Given the description of an element on the screen output the (x, y) to click on. 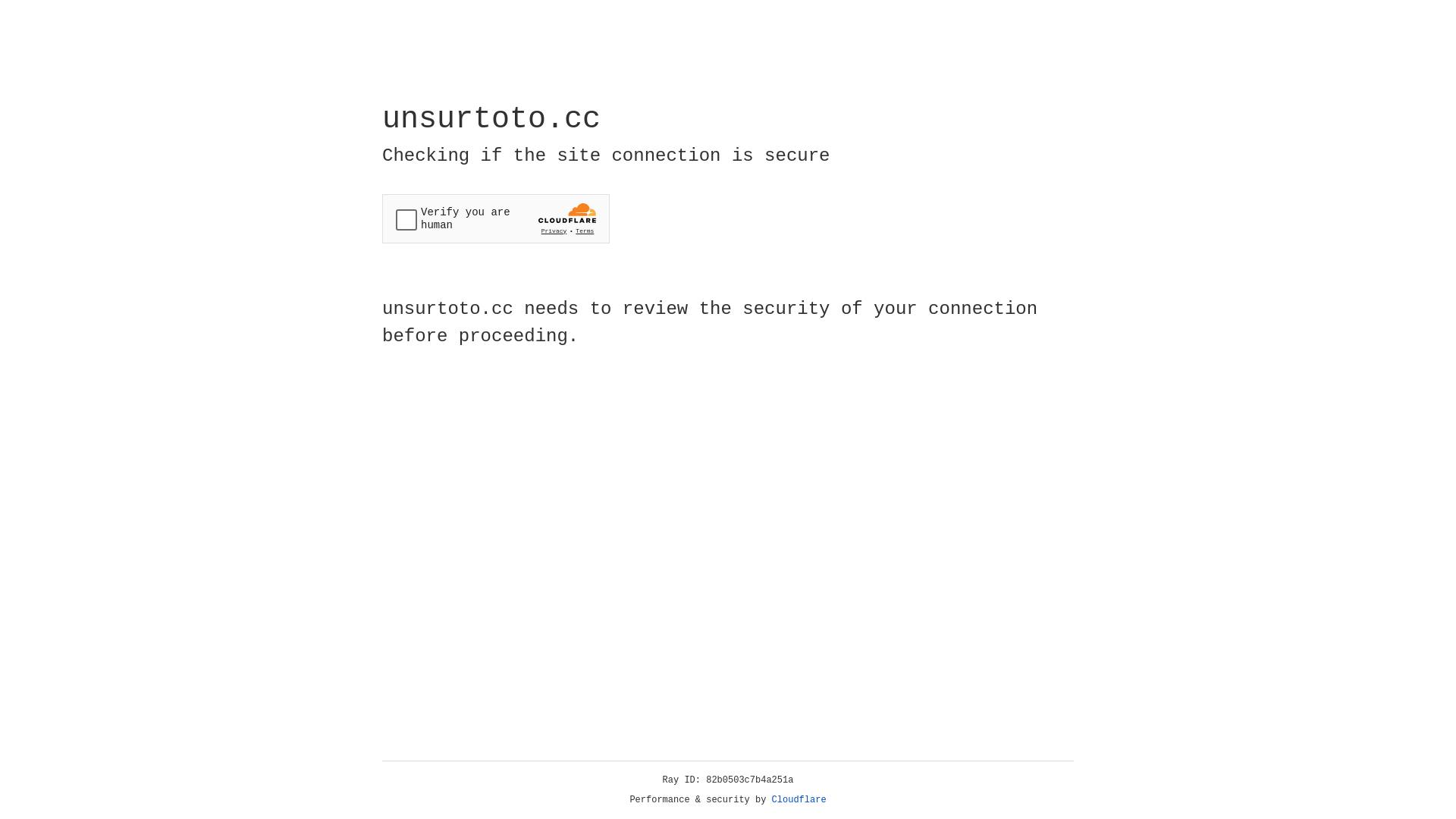
Widget containing a Cloudflare security challenge Element type: hover (495, 218)
Cloudflare Element type: text (798, 799)
